Given the description of an element on the screen output the (x, y) to click on. 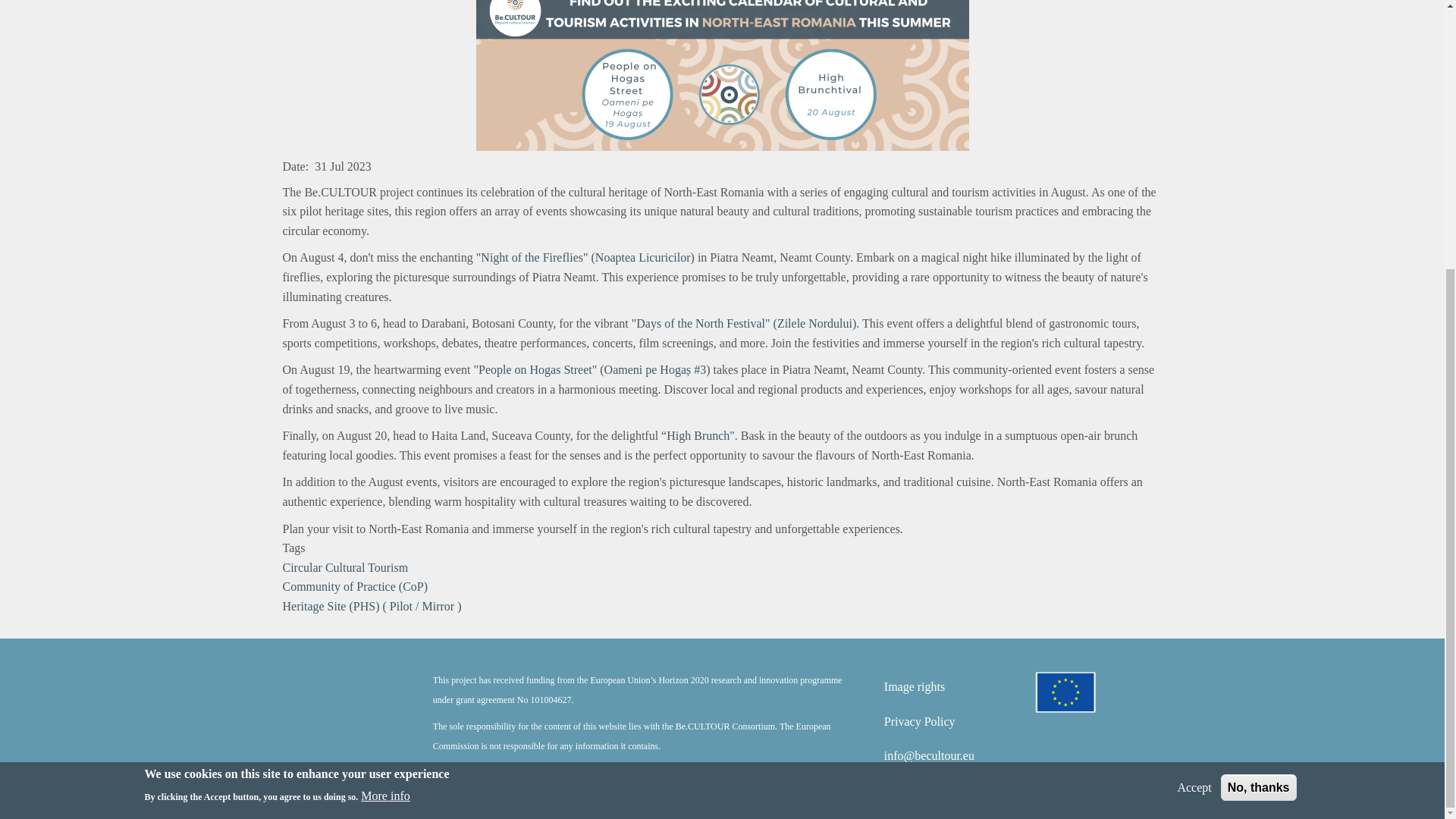
Circular Cultural Tourism (344, 567)
Privacy Policy (919, 721)
Image rights (913, 686)
